Given the description of an element on the screen output the (x, y) to click on. 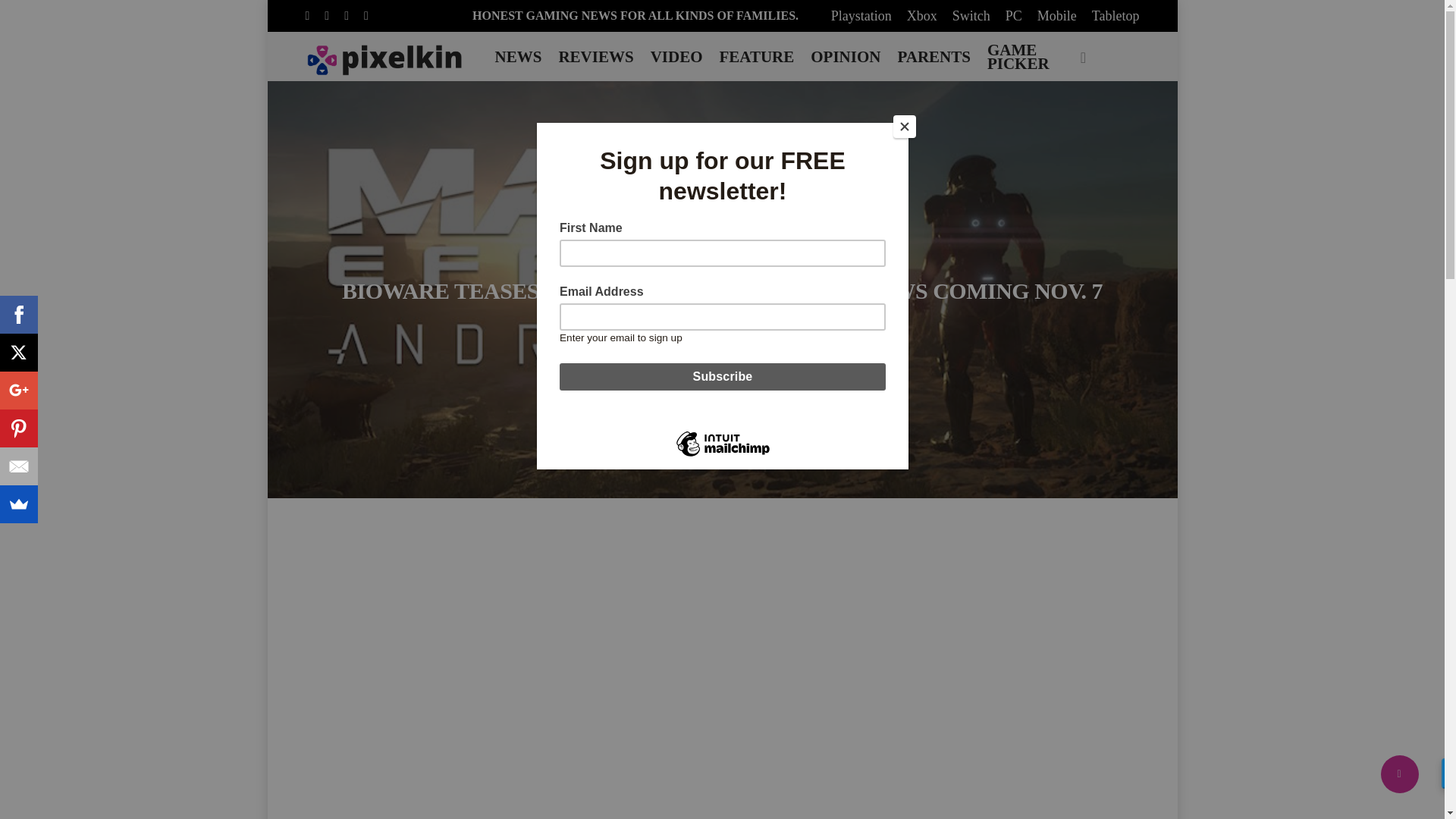
PC (641, 253)
Pinterest (18, 428)
OPINION (844, 56)
PC (1014, 15)
No Comments (783, 328)
SumoMe (18, 504)
Email (18, 466)
Video (774, 253)
VIDEO (676, 56)
Xbox (922, 15)
X (18, 352)
Mobile (1056, 15)
NEWS (519, 56)
Xbox One (837, 253)
News (594, 253)
